Given the description of an element on the screen output the (x, y) to click on. 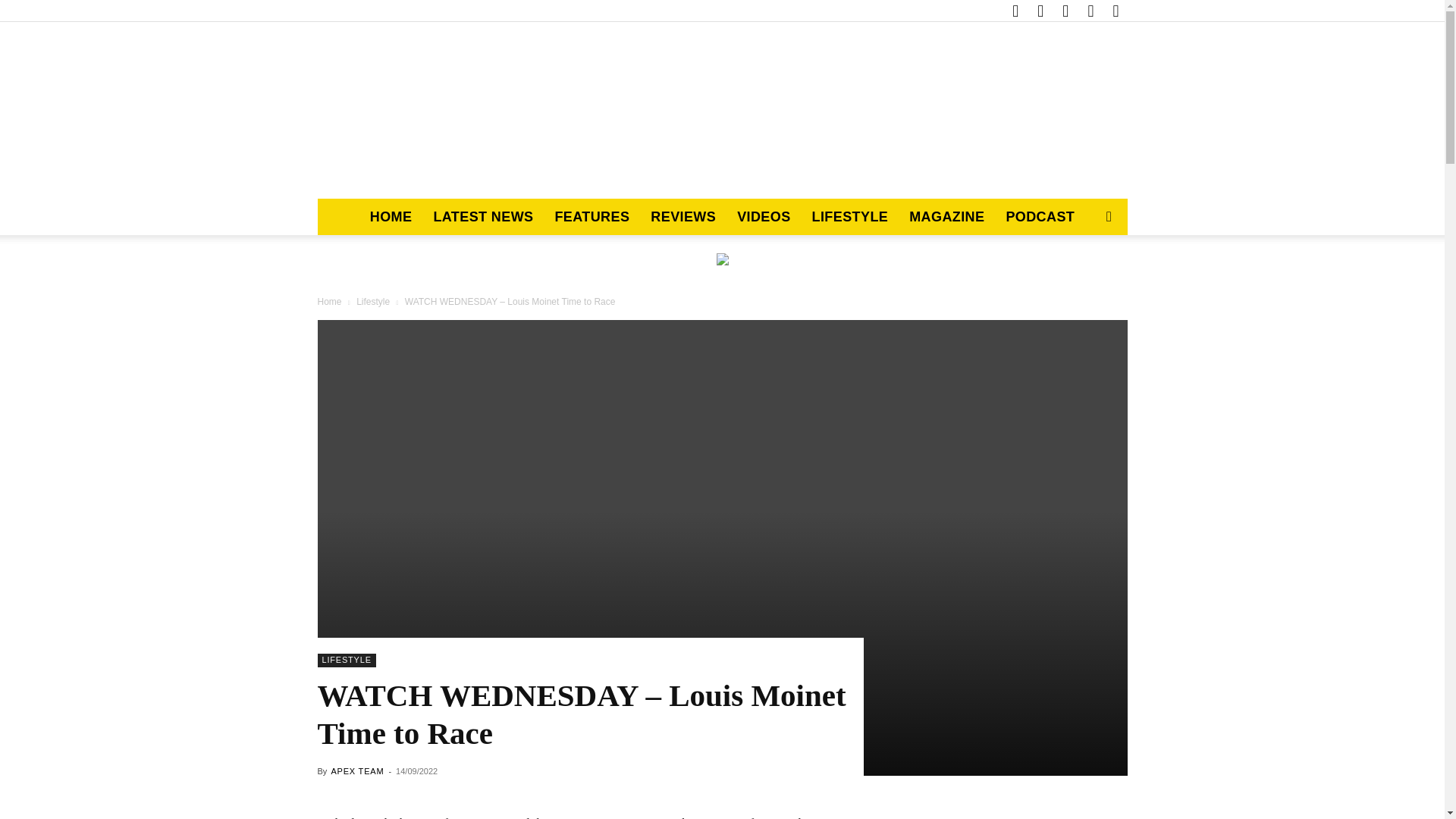
LIFESTYLE (346, 660)
VIDEOS (763, 217)
Home (328, 300)
Lifestyle (373, 300)
LIFESTYLE (850, 217)
Search (1085, 277)
Twitter (1090, 10)
LATEST NEWS (482, 217)
TikTok (1065, 10)
HOME (391, 217)
